Given the description of an element on the screen output the (x, y) to click on. 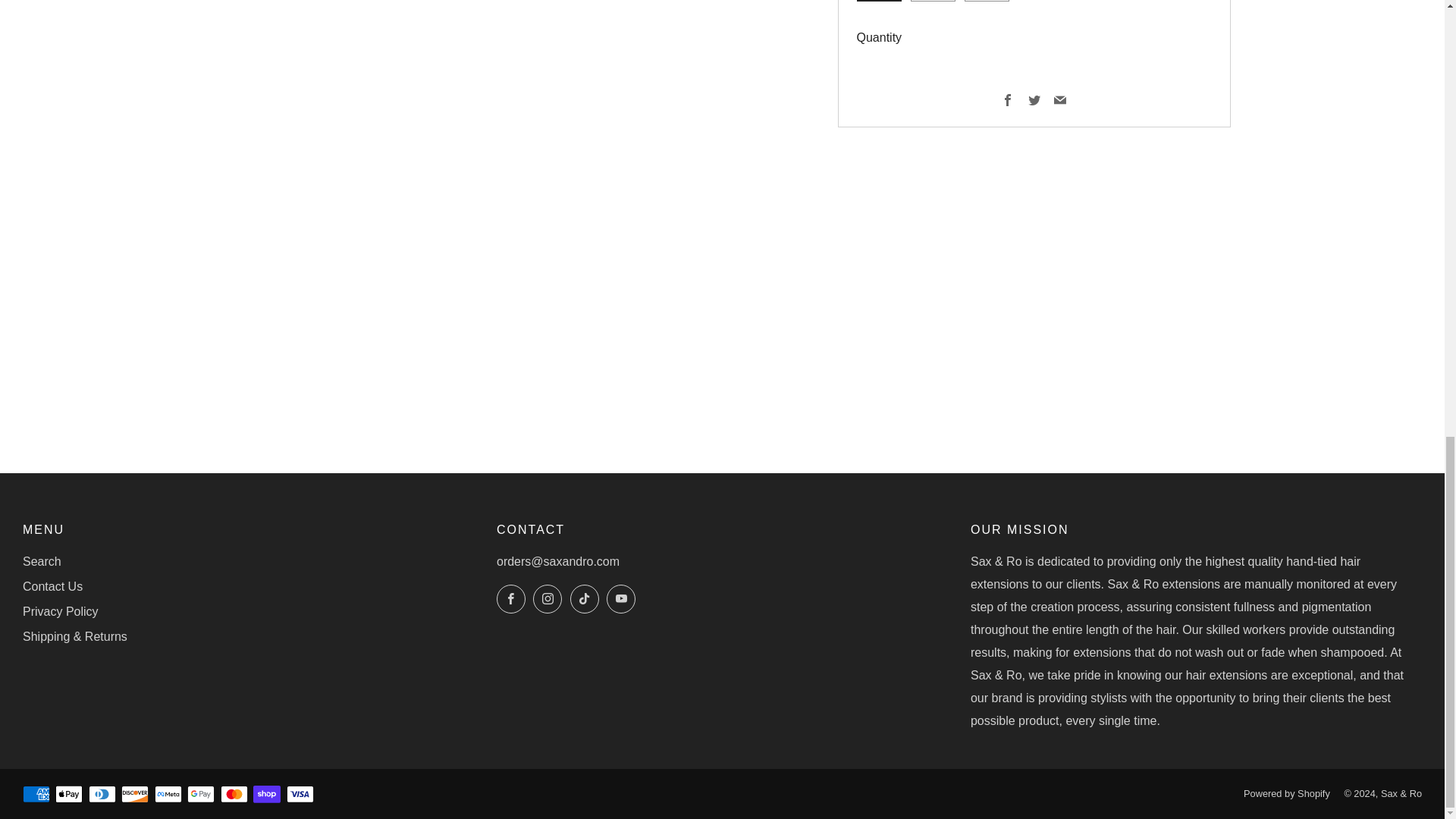
Visa (300, 794)
Shop Pay (267, 794)
American Express (36, 794)
Discover (134, 794)
Meta Pay (168, 794)
Apple Pay (68, 794)
Google Pay (200, 794)
Diners Club (102, 794)
Mastercard (234, 794)
